Given the description of an element on the screen output the (x, y) to click on. 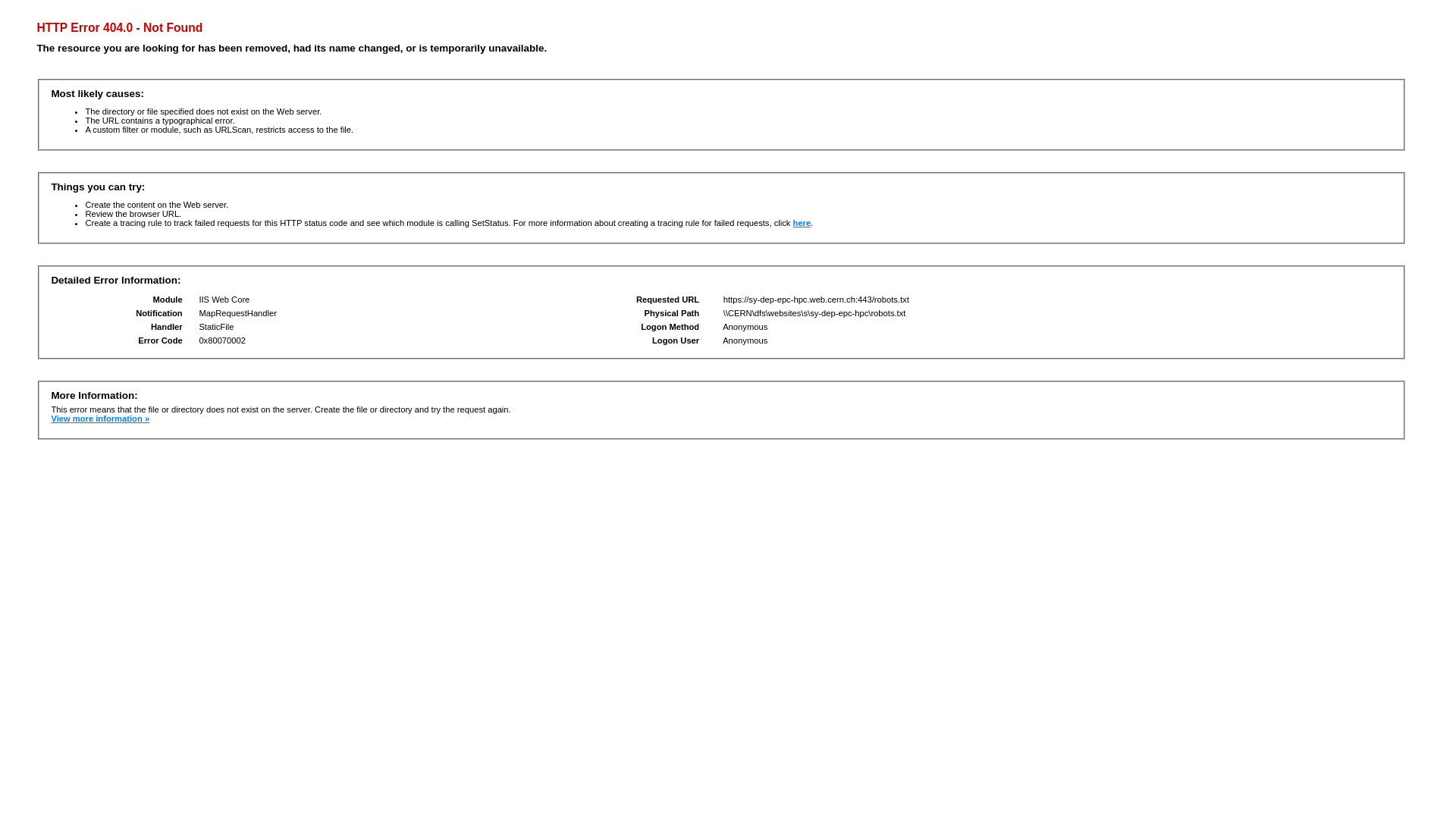
here Element type: text (802, 222)
